Given the description of an element on the screen output the (x, y) to click on. 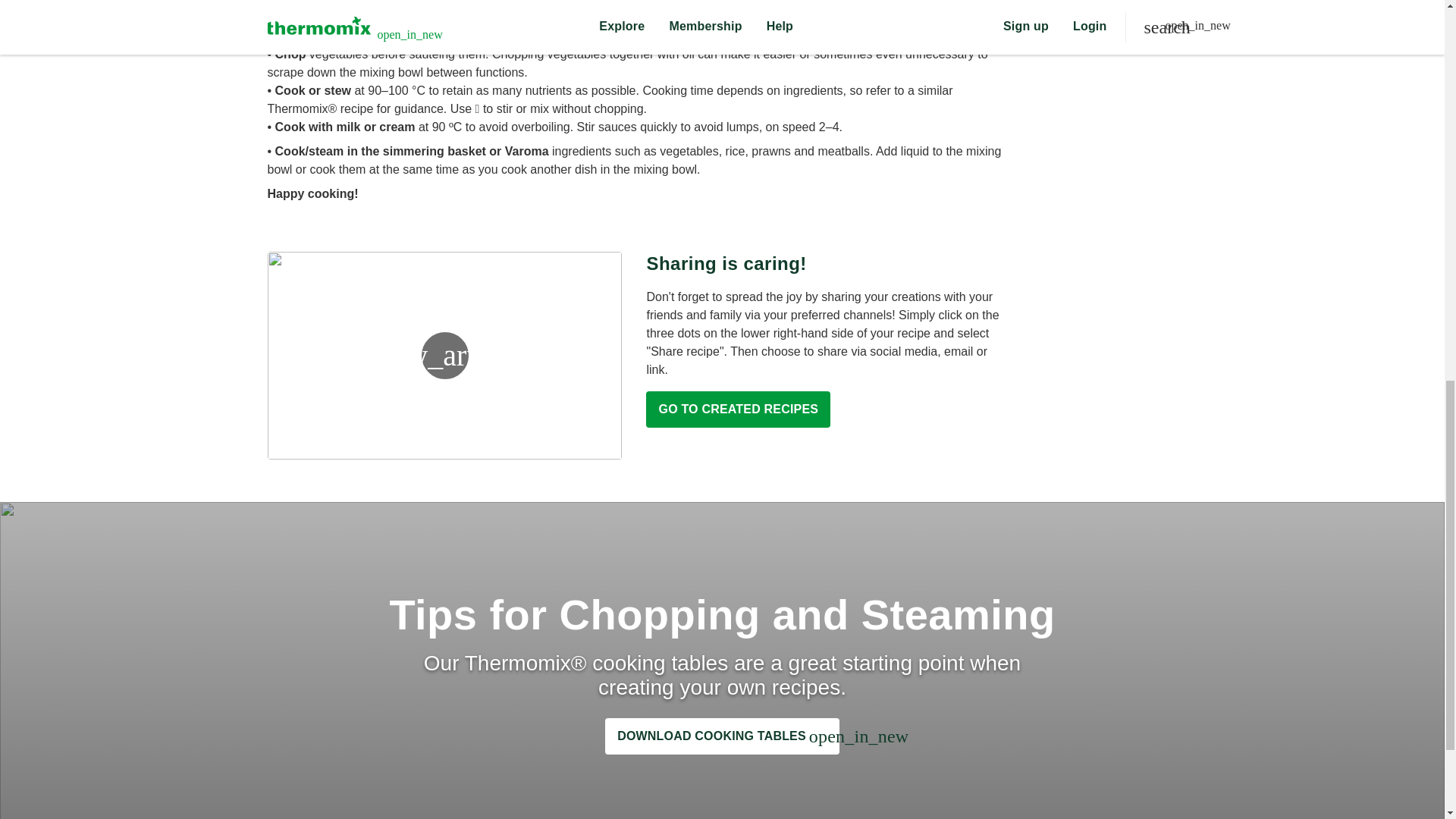
DOWNLOAD COOKING TABLES (722, 736)
GO TO CREATED RECIPES (737, 409)
